Given the description of an element on the screen output the (x, y) to click on. 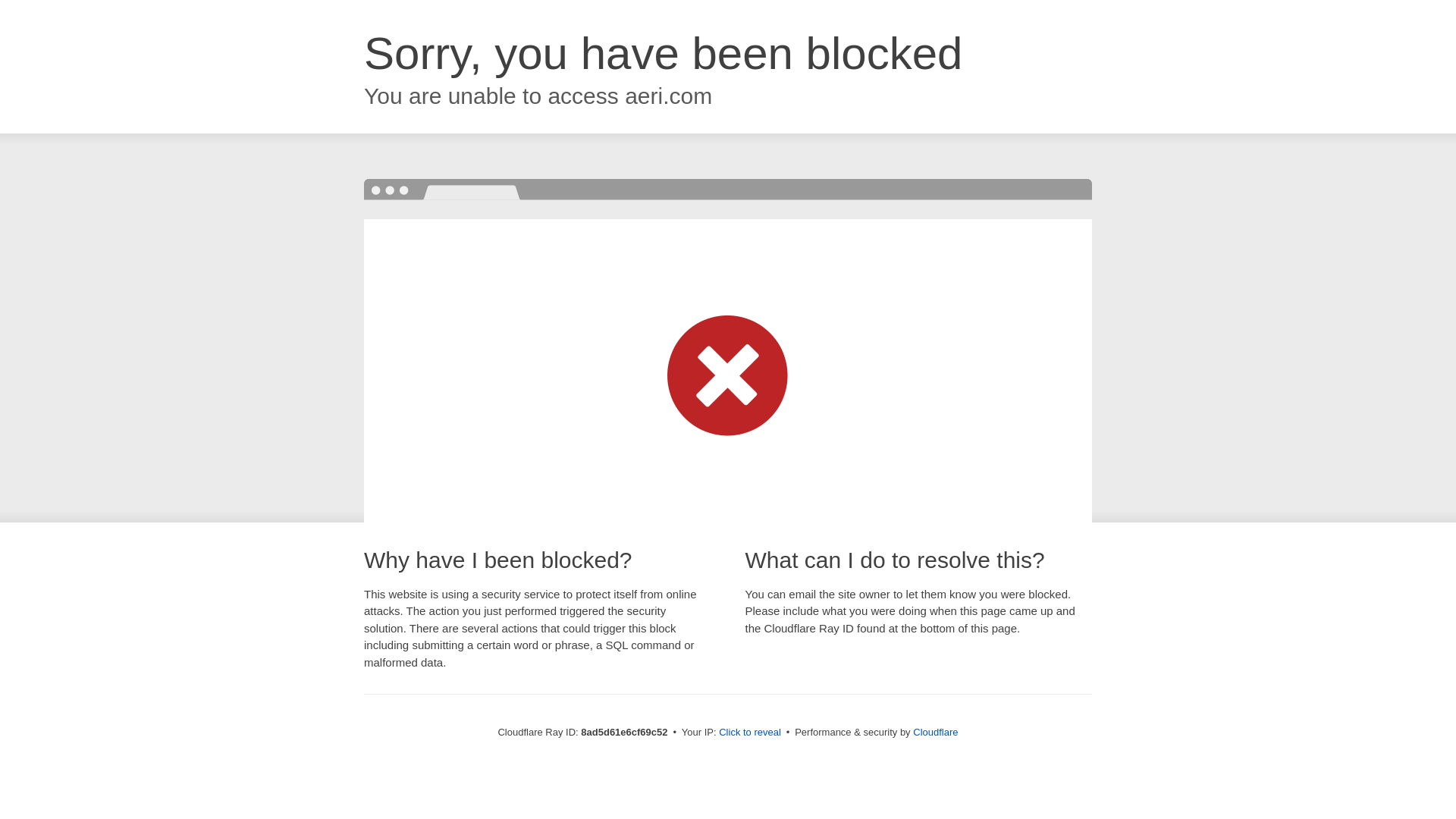
Cloudflare (935, 731)
Click to reveal (749, 732)
